Given the description of an element on the screen output the (x, y) to click on. 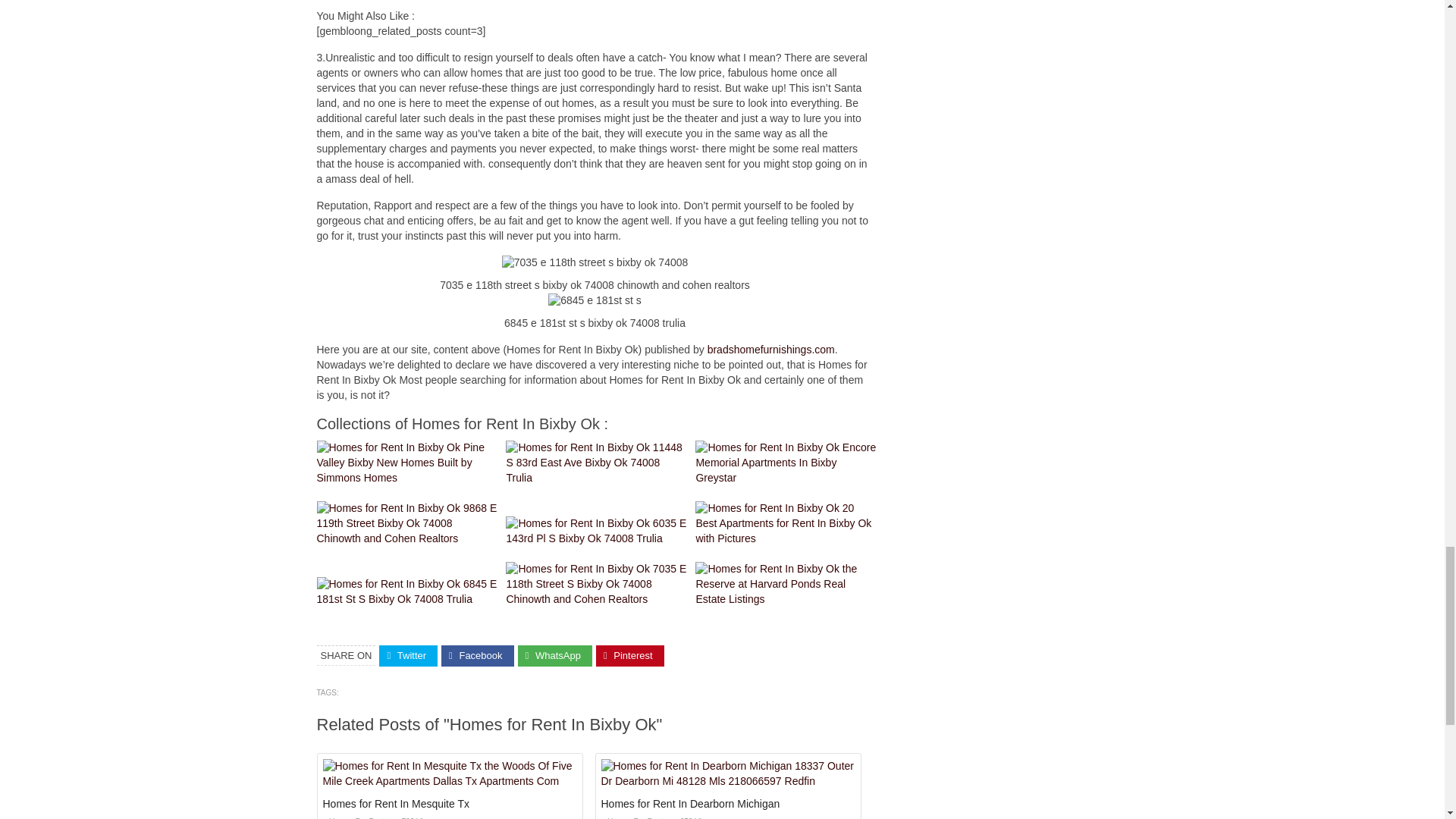
Twitter (408, 656)
Pinterest (629, 656)
Homes For Rent (354, 818)
Facebook (477, 656)
Homes For Rent (630, 818)
6845 e 181st st s bixby ok 74008 trulia (595, 300)
